Given the description of an element on the screen output the (x, y) to click on. 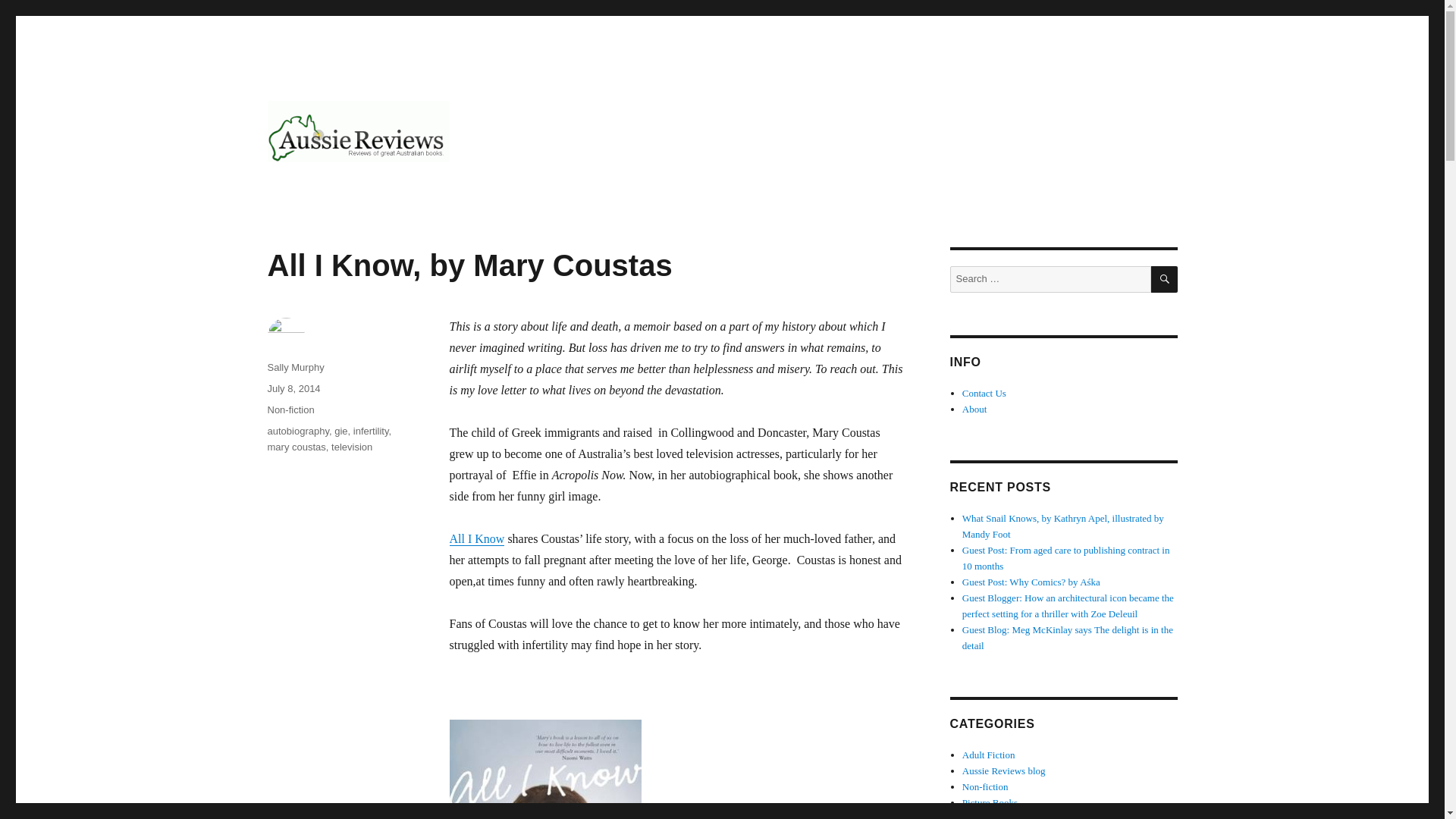
About (974, 408)
autobiography (297, 430)
All I Know (475, 538)
Aussie Reviews (347, 186)
SEARCH (1164, 279)
Adult Fiction (988, 754)
July 8, 2014 (293, 388)
Non-fiction (985, 786)
Uncategorised (990, 816)
infertility (370, 430)
Aussie Reviews blog (1003, 770)
 All I Know  (544, 769)
What Snail Knows, by Kathryn Apel, illustrated by Mandy Foot (1062, 525)
Sally Murphy (294, 367)
Contact Us (984, 392)
